Given the description of an element on the screen output the (x, y) to click on. 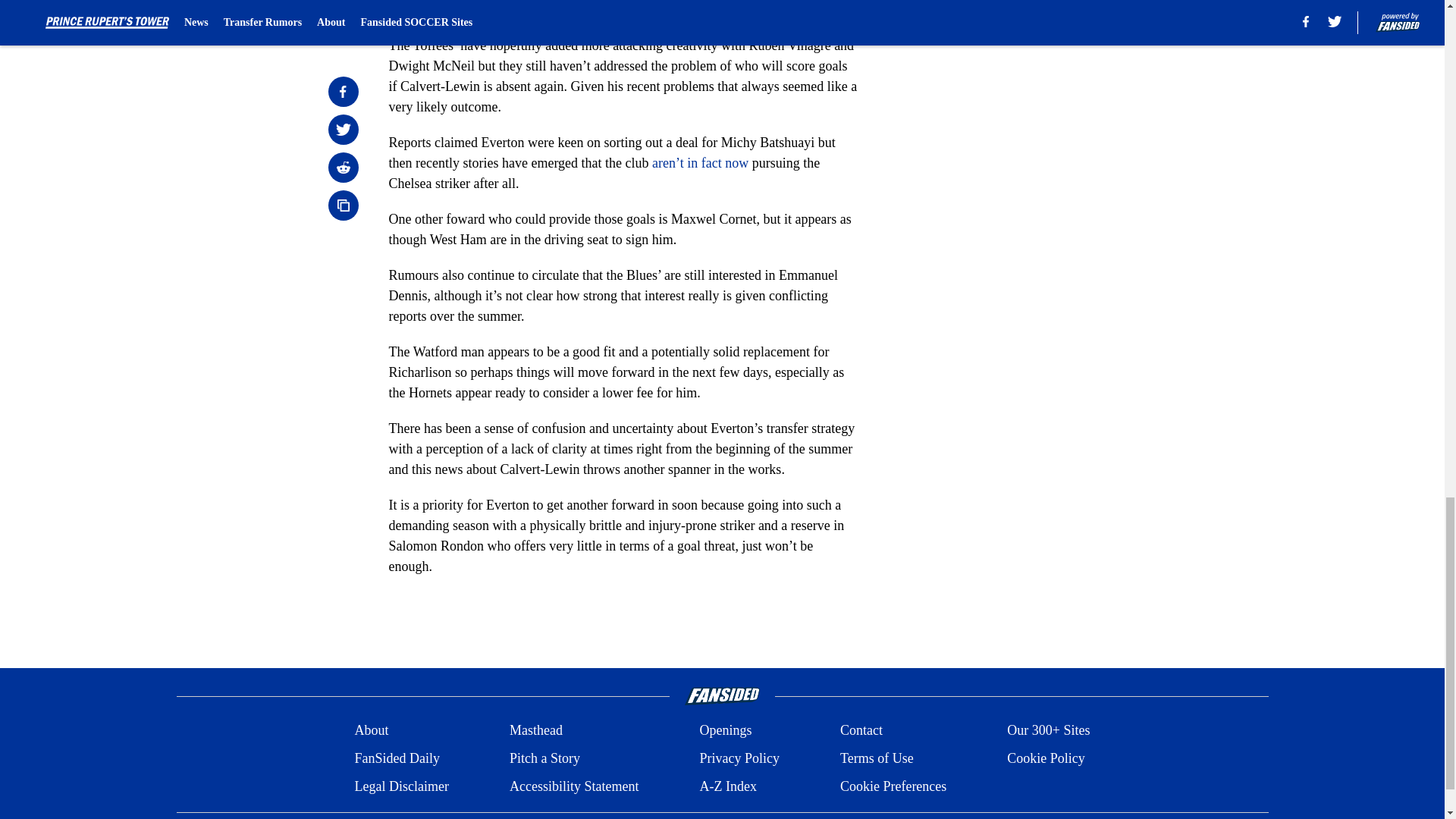
A-Z Index (726, 786)
Contact (861, 730)
Masthead (535, 730)
Pitch a Story (544, 758)
FanSided Daily (396, 758)
Cookie Policy (1045, 758)
Openings (724, 730)
Legal Disclaimer (400, 786)
Accessibility Statement (574, 786)
About (370, 730)
Terms of Use (877, 758)
Cookie Preferences (893, 786)
Privacy Policy (738, 758)
